Given the description of an element on the screen output the (x, y) to click on. 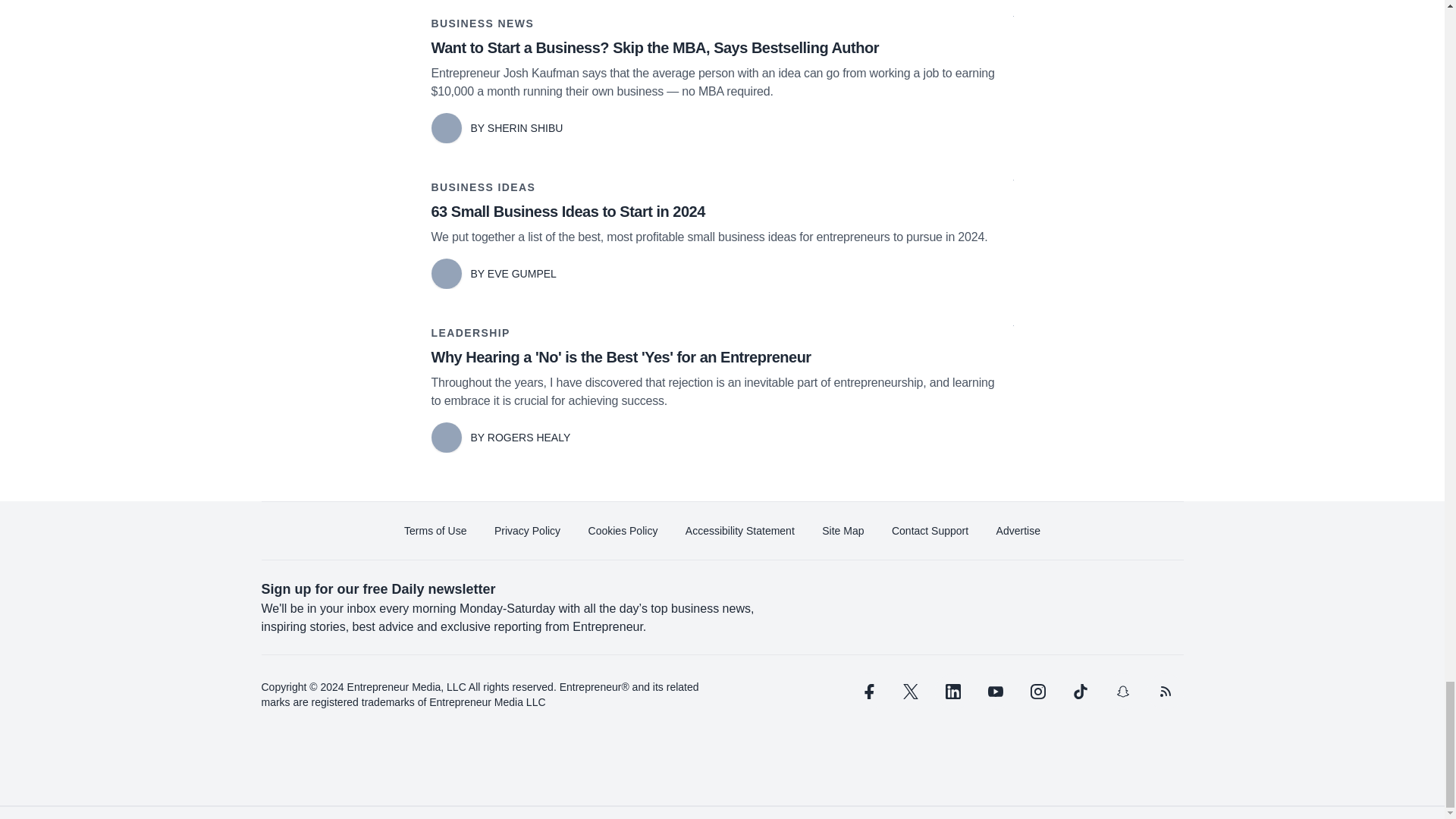
facebook (866, 691)
linkedin (952, 691)
tiktok (1079, 691)
instagram (1037, 691)
twitter (909, 691)
snapchat (1121, 691)
youtube (994, 691)
